Given the description of an element on the screen output the (x, y) to click on. 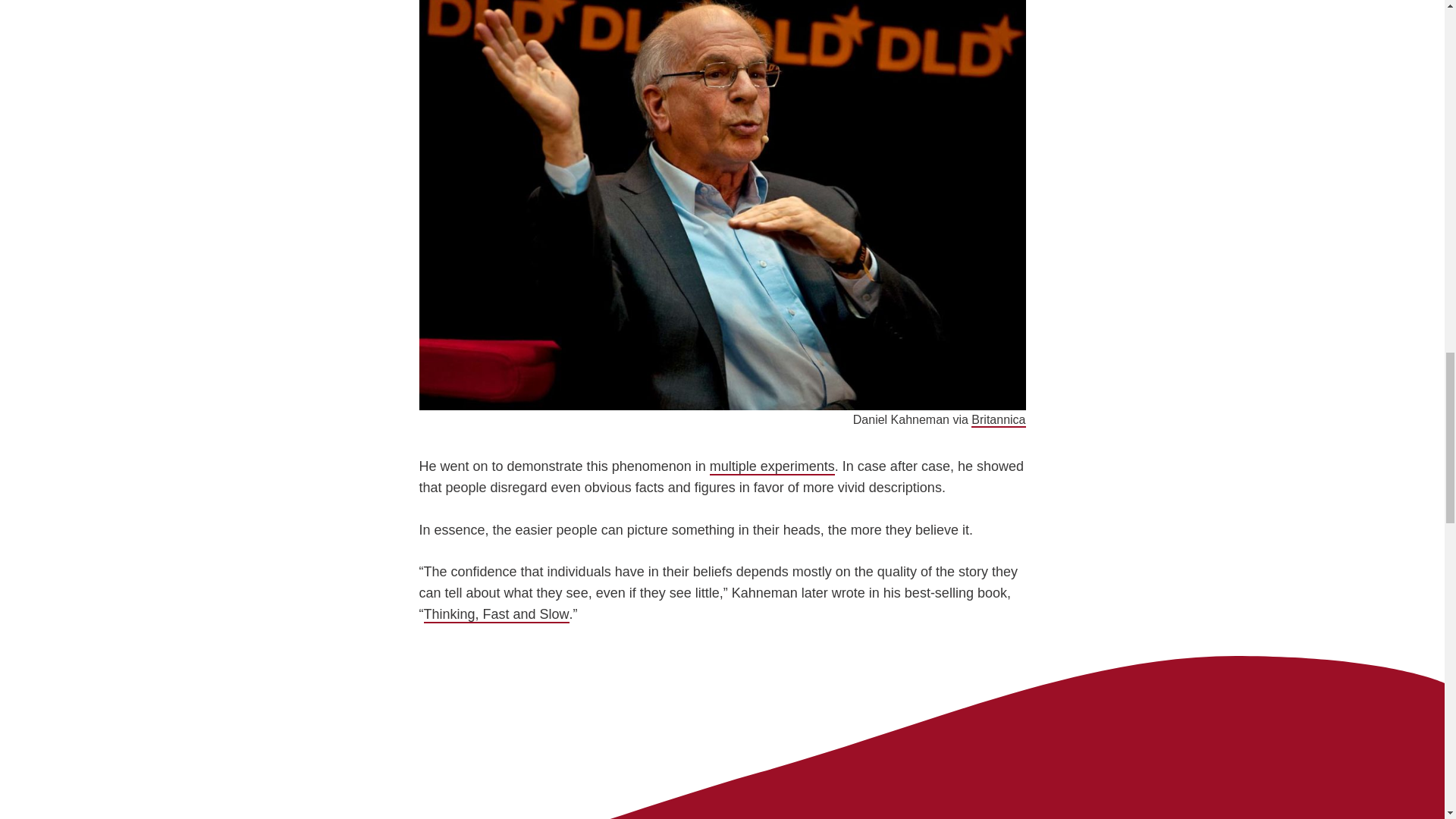
Britannica (998, 420)
multiple experiments (772, 466)
Thinking, Fast and Slow (496, 614)
